Given the description of an element on the screen output the (x, y) to click on. 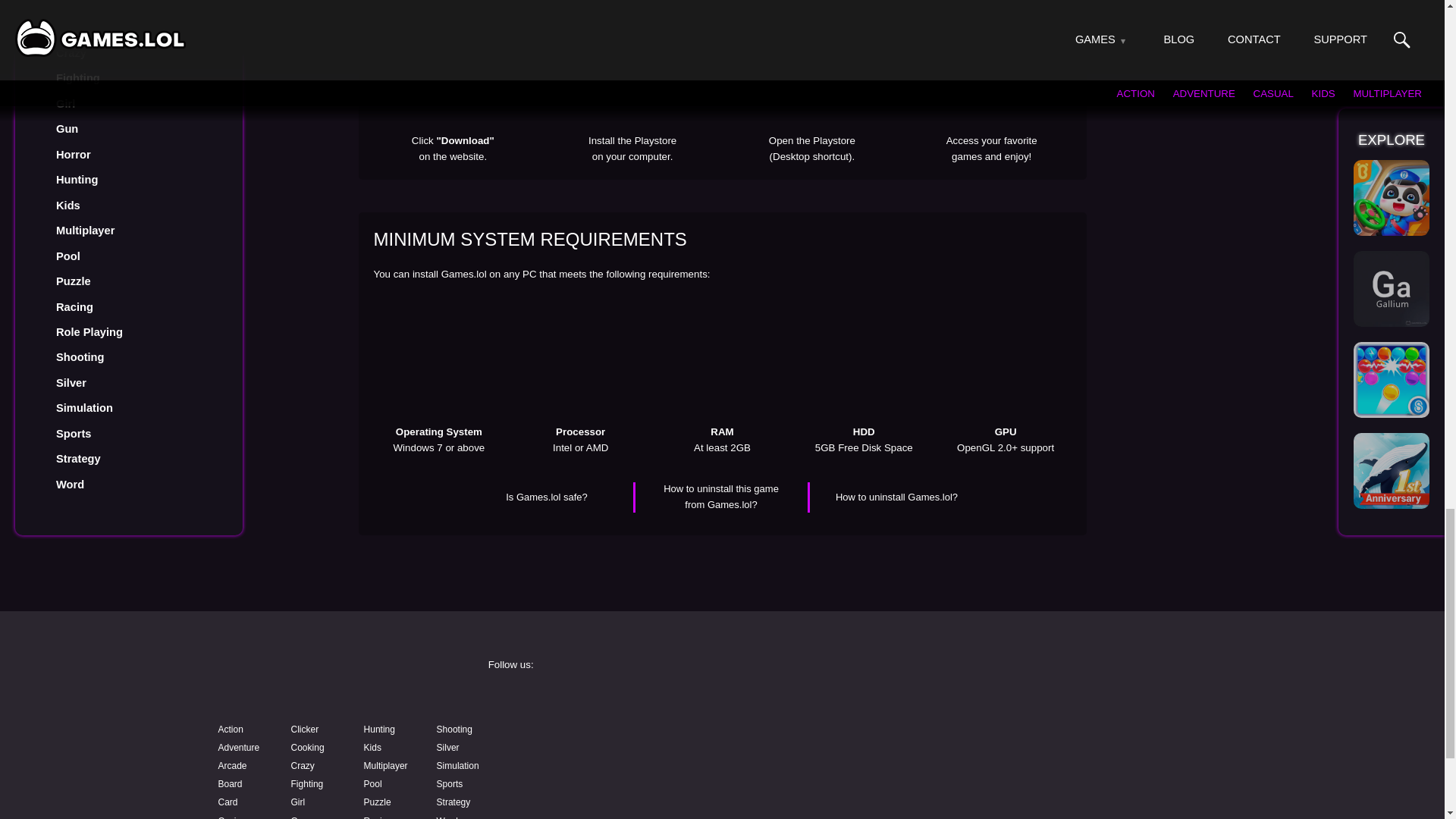
Twitter (1073, 700)
YouTube (603, 740)
Instagram (838, 700)
Games.lol free game download website logo (319, 678)
Discord (838, 740)
Facebook (603, 700)
